Given the description of an element on the screen output the (x, y) to click on. 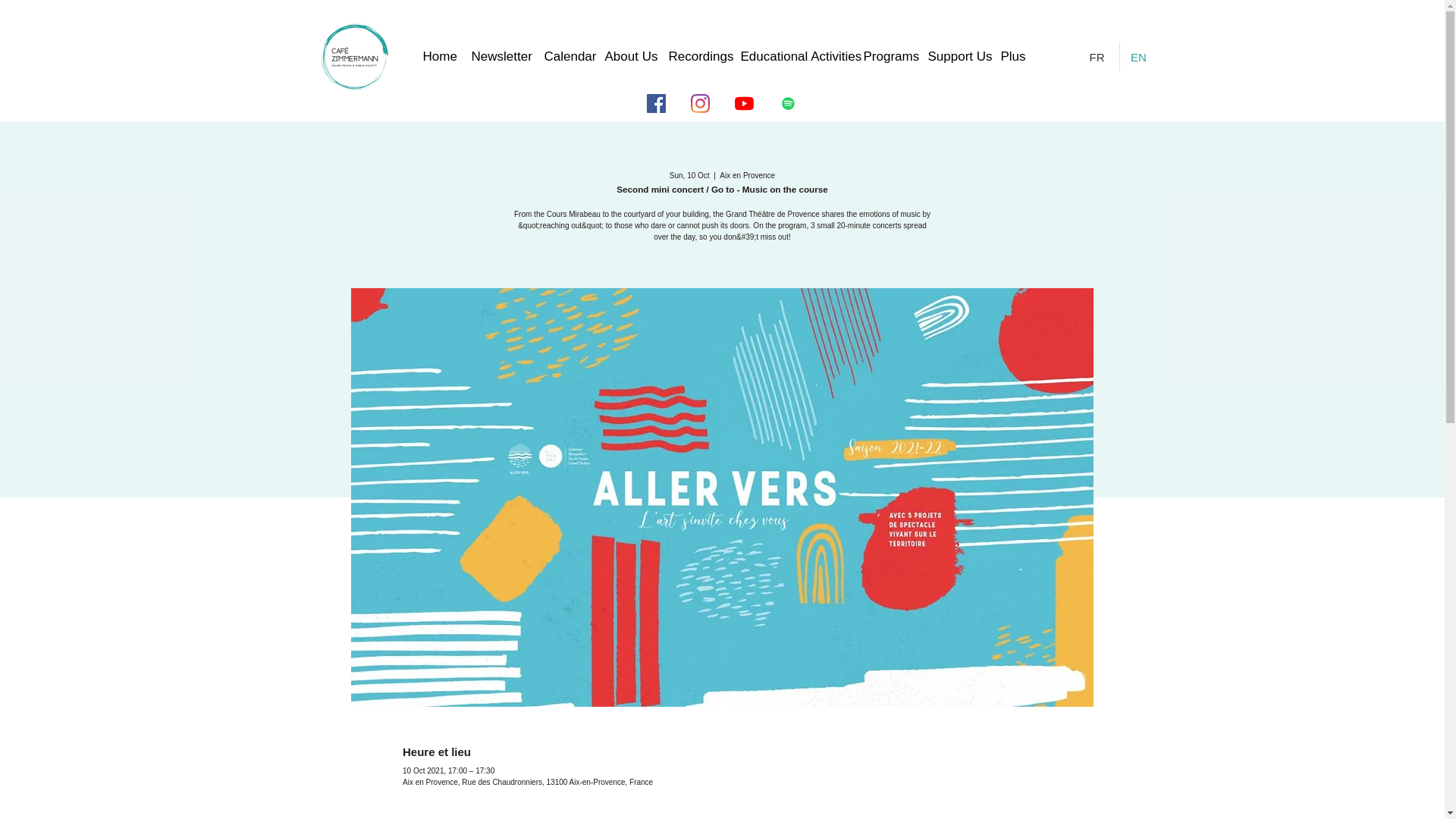
Newsletter (500, 56)
Support Us (956, 56)
Home (439, 56)
Programs (888, 56)
About Us (628, 56)
Calendar (566, 56)
EN (1139, 56)
Recordings (697, 56)
FR (1098, 56)
Educational Activities (794, 56)
